Given the description of an element on the screen output the (x, y) to click on. 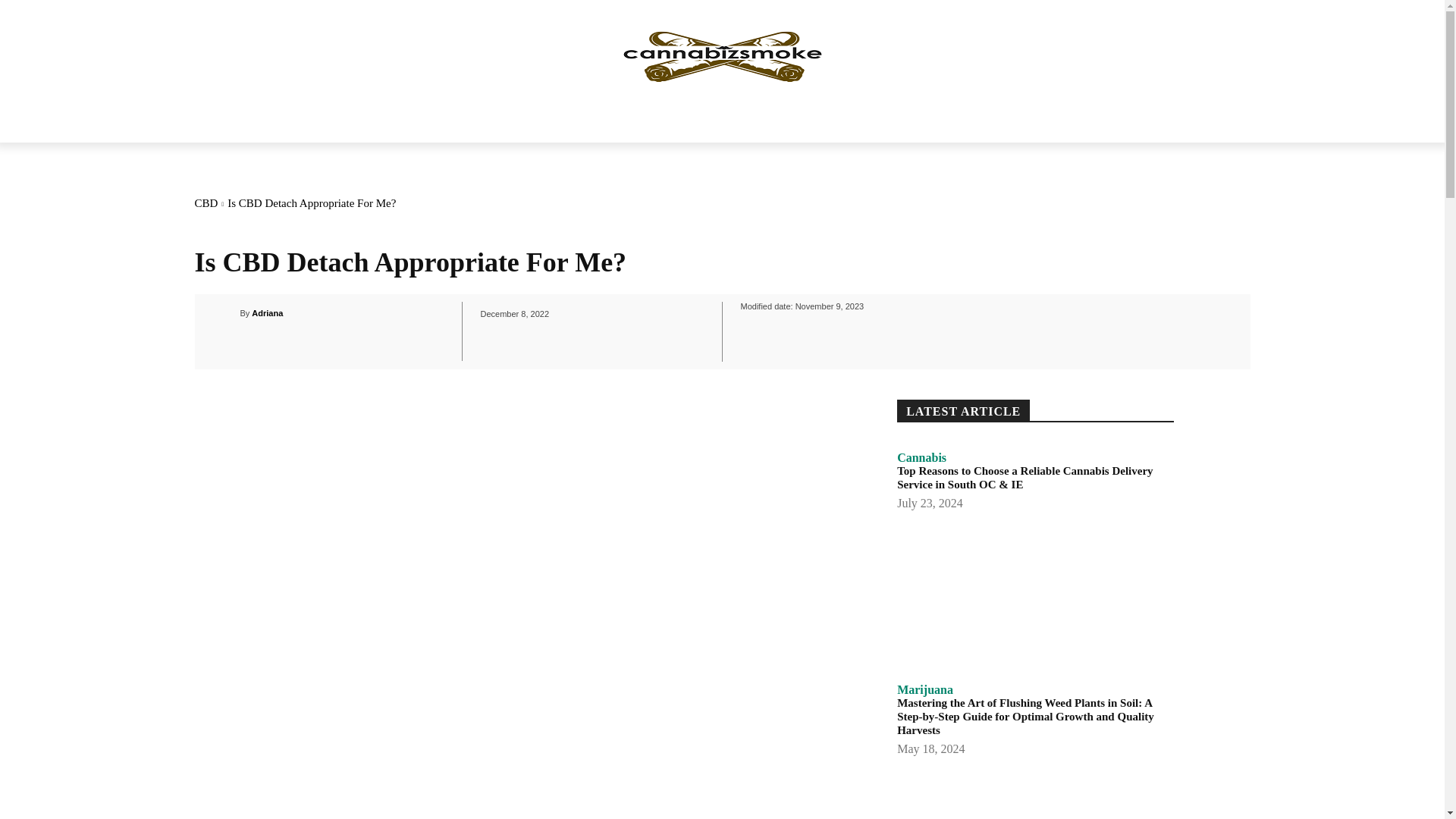
View all posts in CBD (204, 203)
Adriana (229, 313)
Adriana (266, 313)
CBD (204, 203)
